Given the description of an element on the screen output the (x, y) to click on. 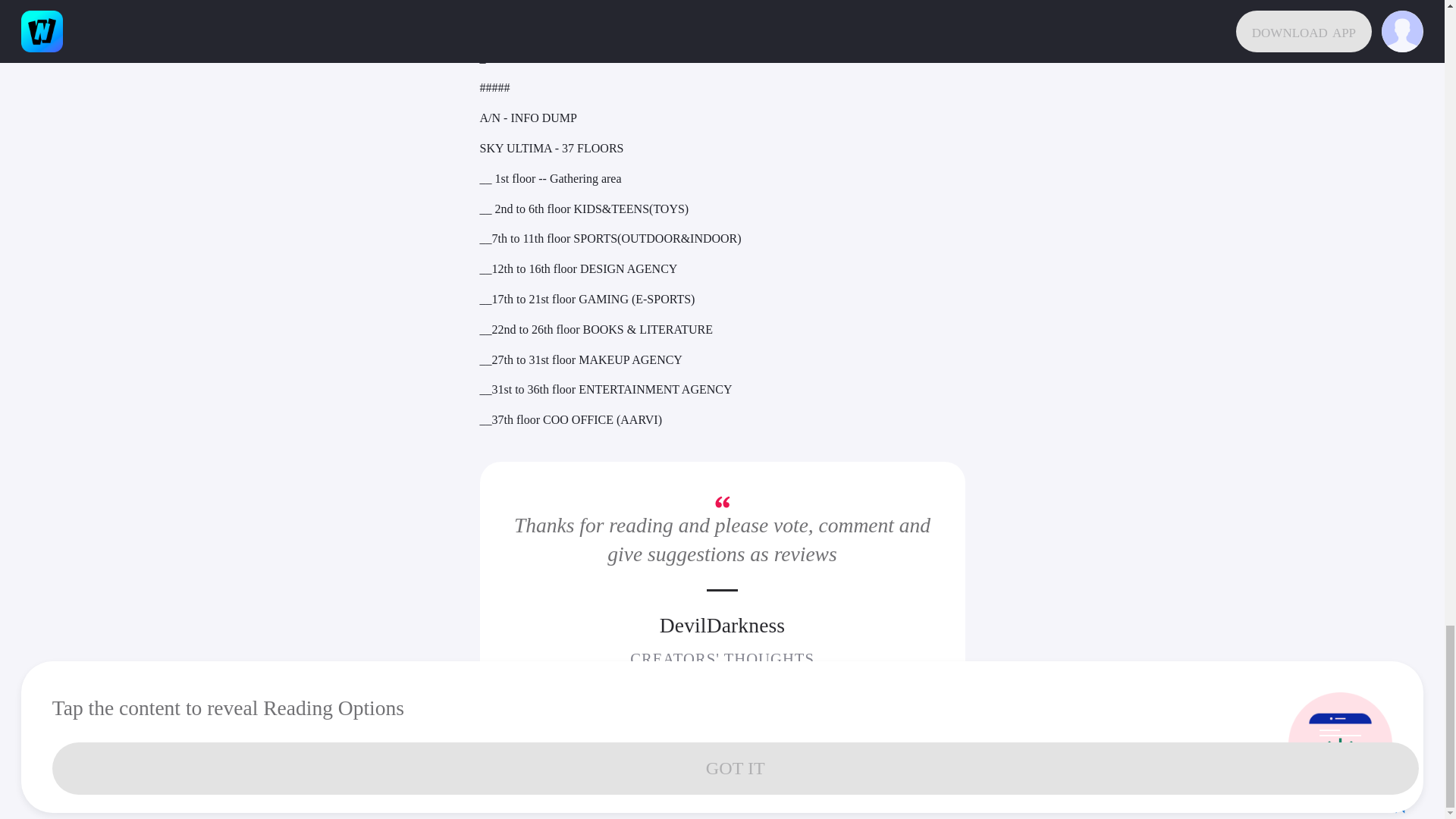
DevilDarkness (721, 625)
DevilDarkness (721, 625)
